Given the description of an element on the screen output the (x, y) to click on. 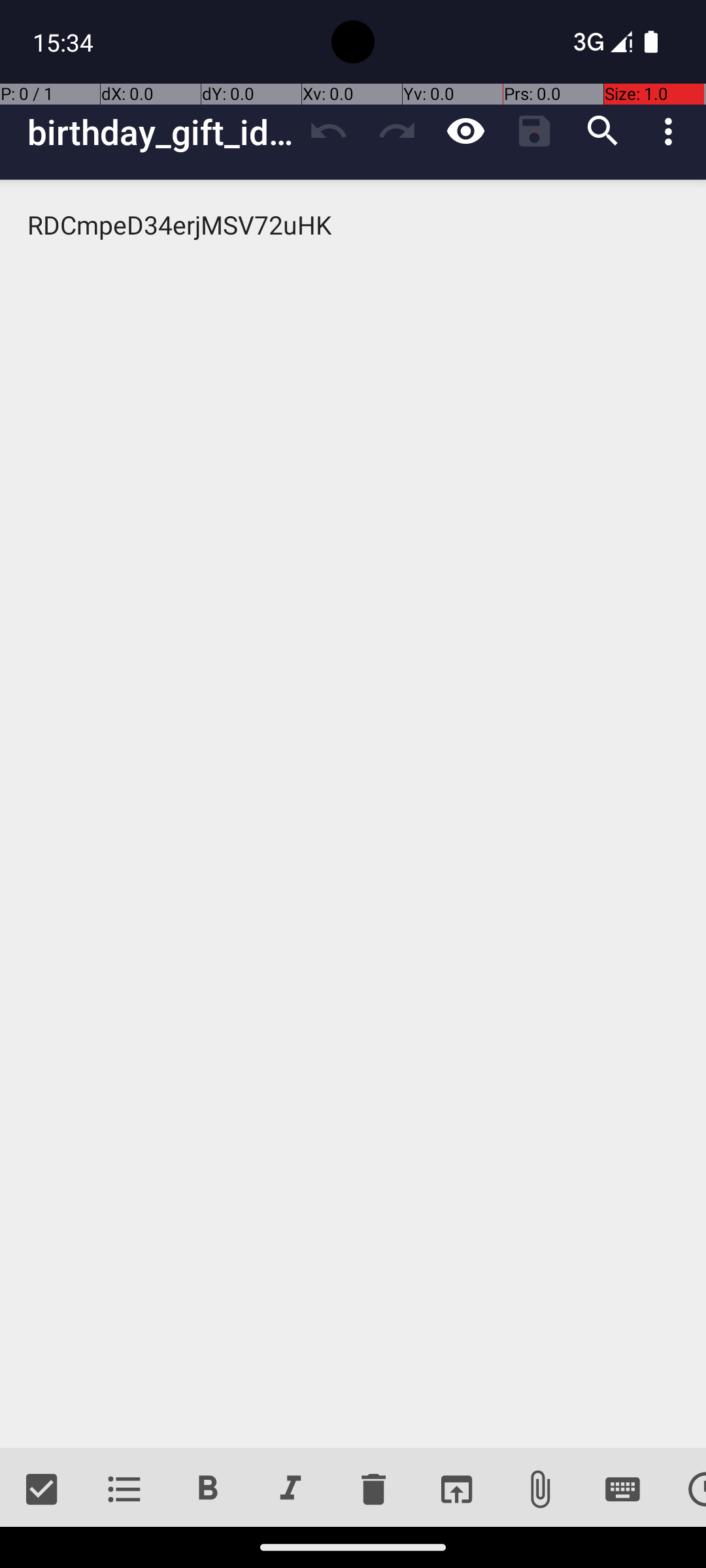
birthday_gift_ideas_mom_2023_05_14 Element type: android.widget.TextView (160, 131)
RDCmpeD34erjMSV72uHK
 Element type: android.widget.EditText (353, 813)
